Given the description of an element on the screen output the (x, y) to click on. 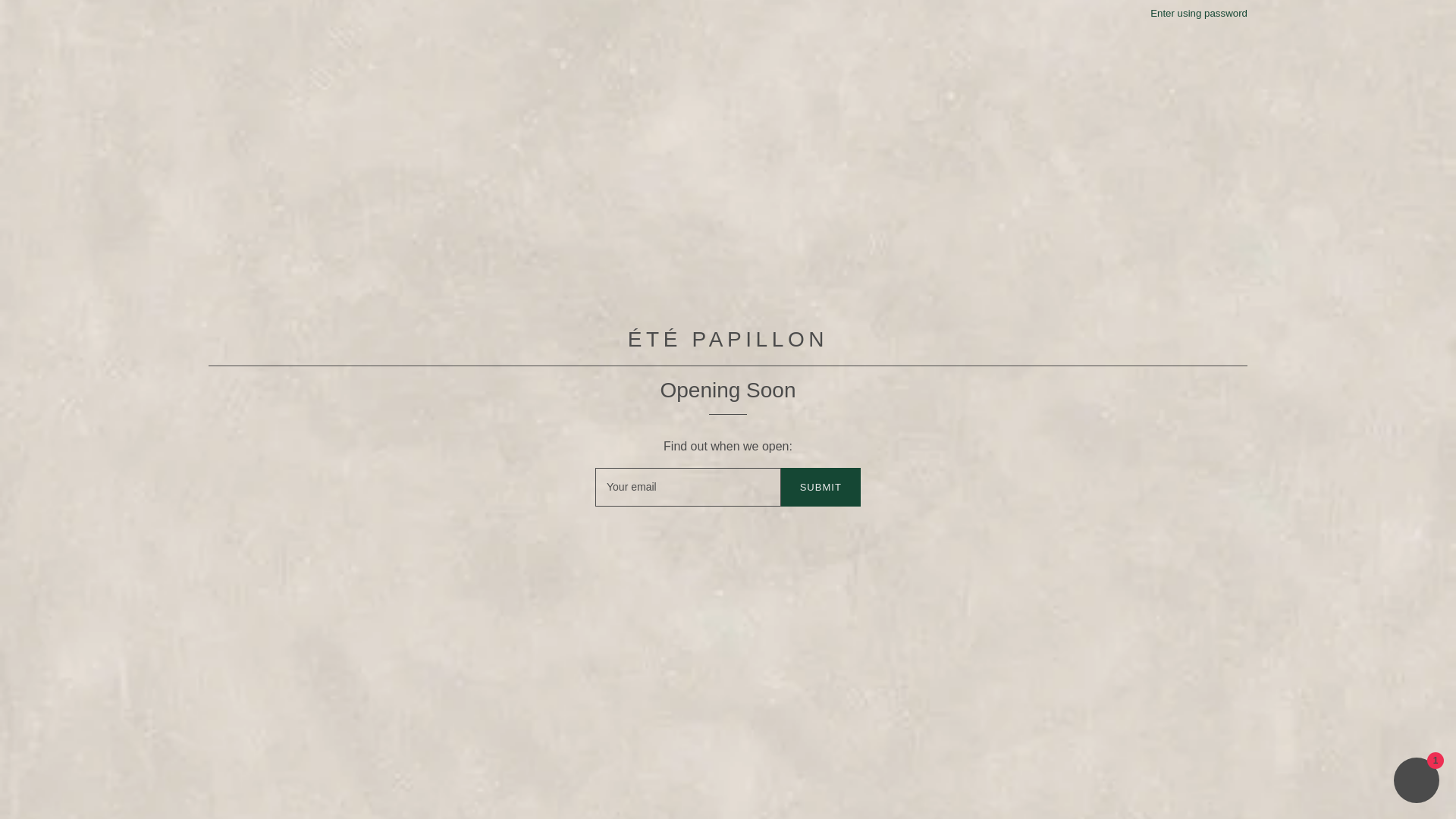
Shopify online store chat (1416, 781)
Enter using password (1198, 12)
Submit (820, 486)
Submit (820, 486)
